Given the description of an element on the screen output the (x, y) to click on. 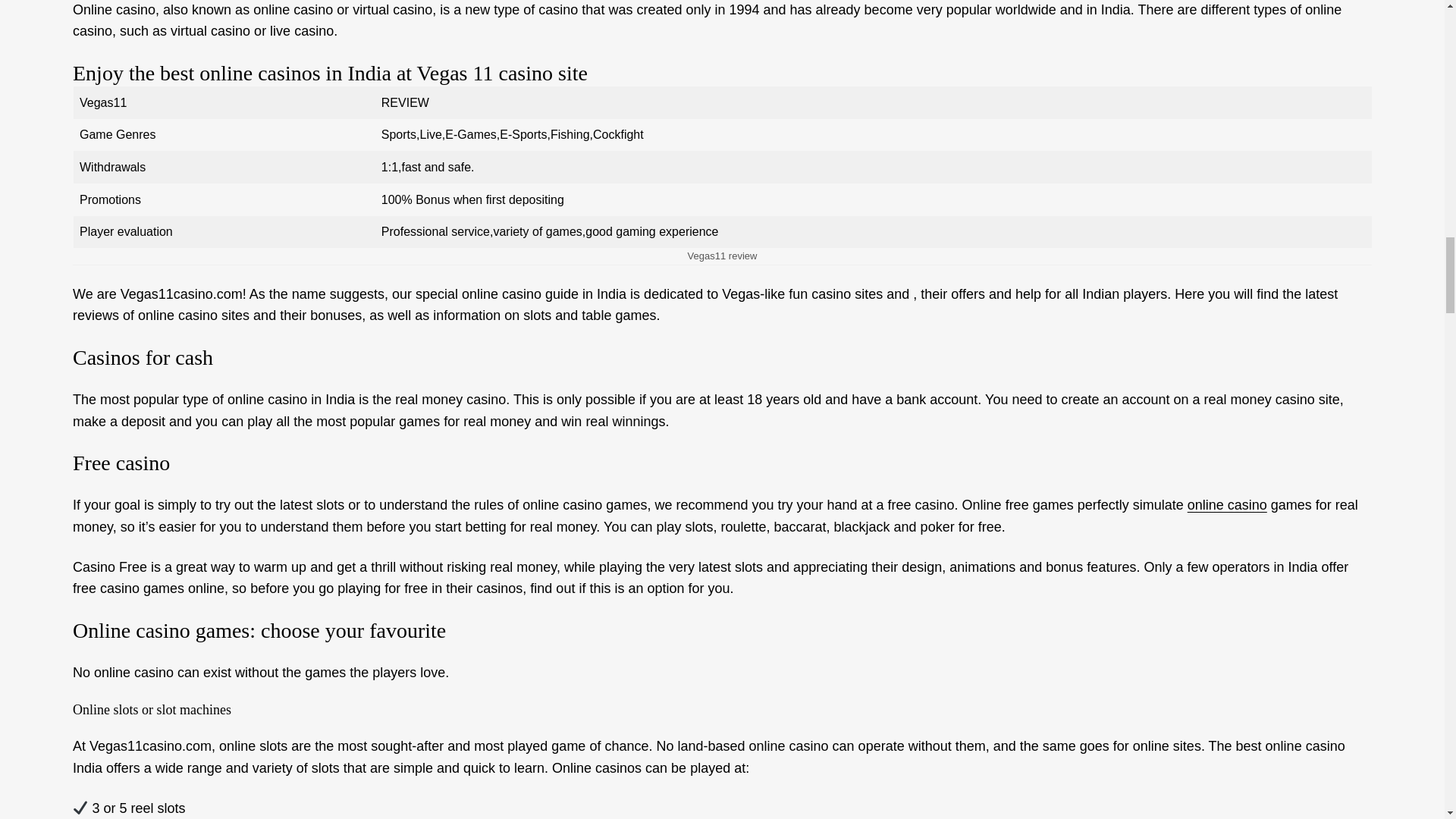
online casino (1227, 504)
